Given the description of an element on the screen output the (x, y) to click on. 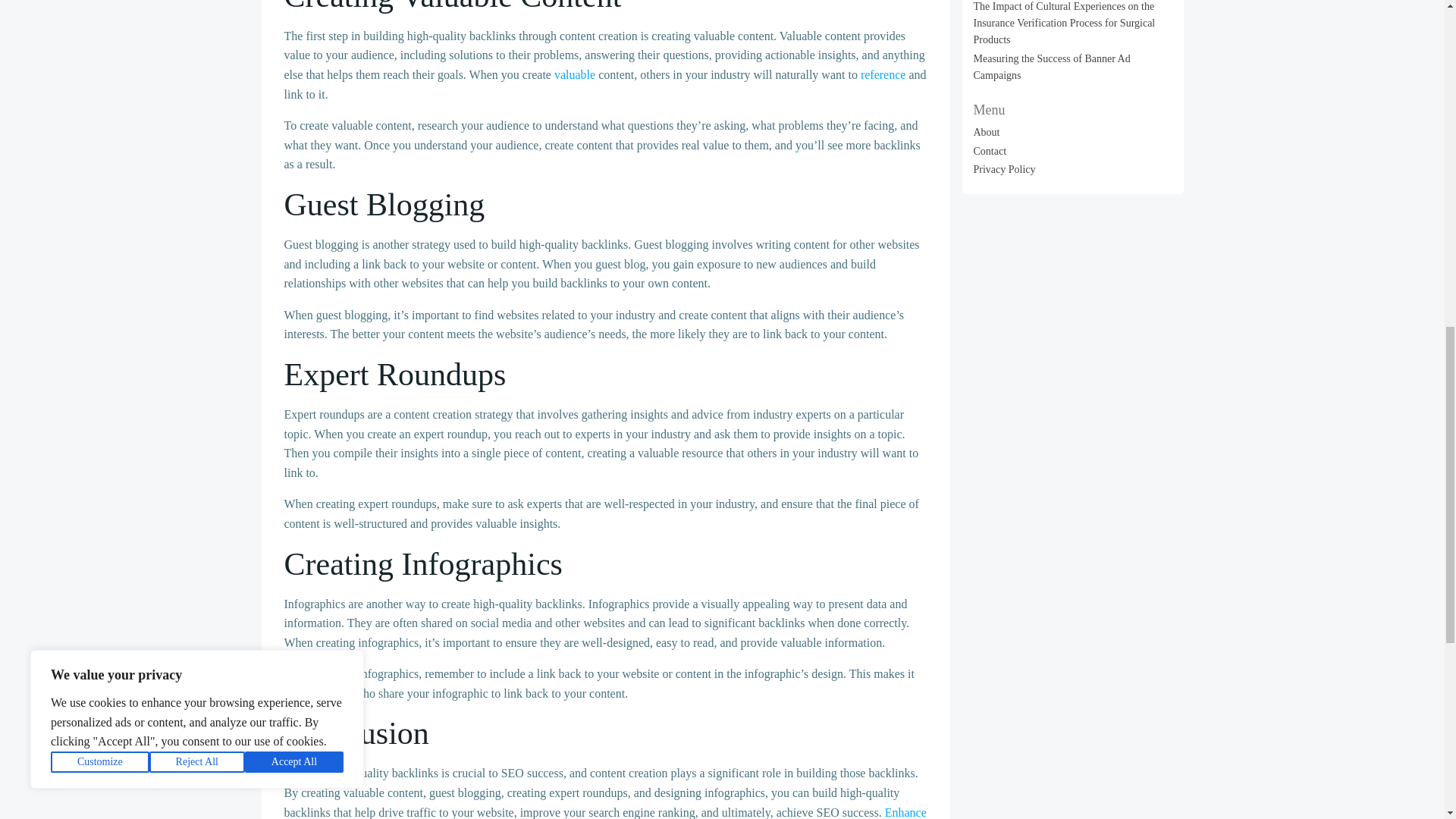
reference (882, 74)
Enhance (905, 812)
valuable (574, 74)
